Given the description of an element on the screen output the (x, y) to click on. 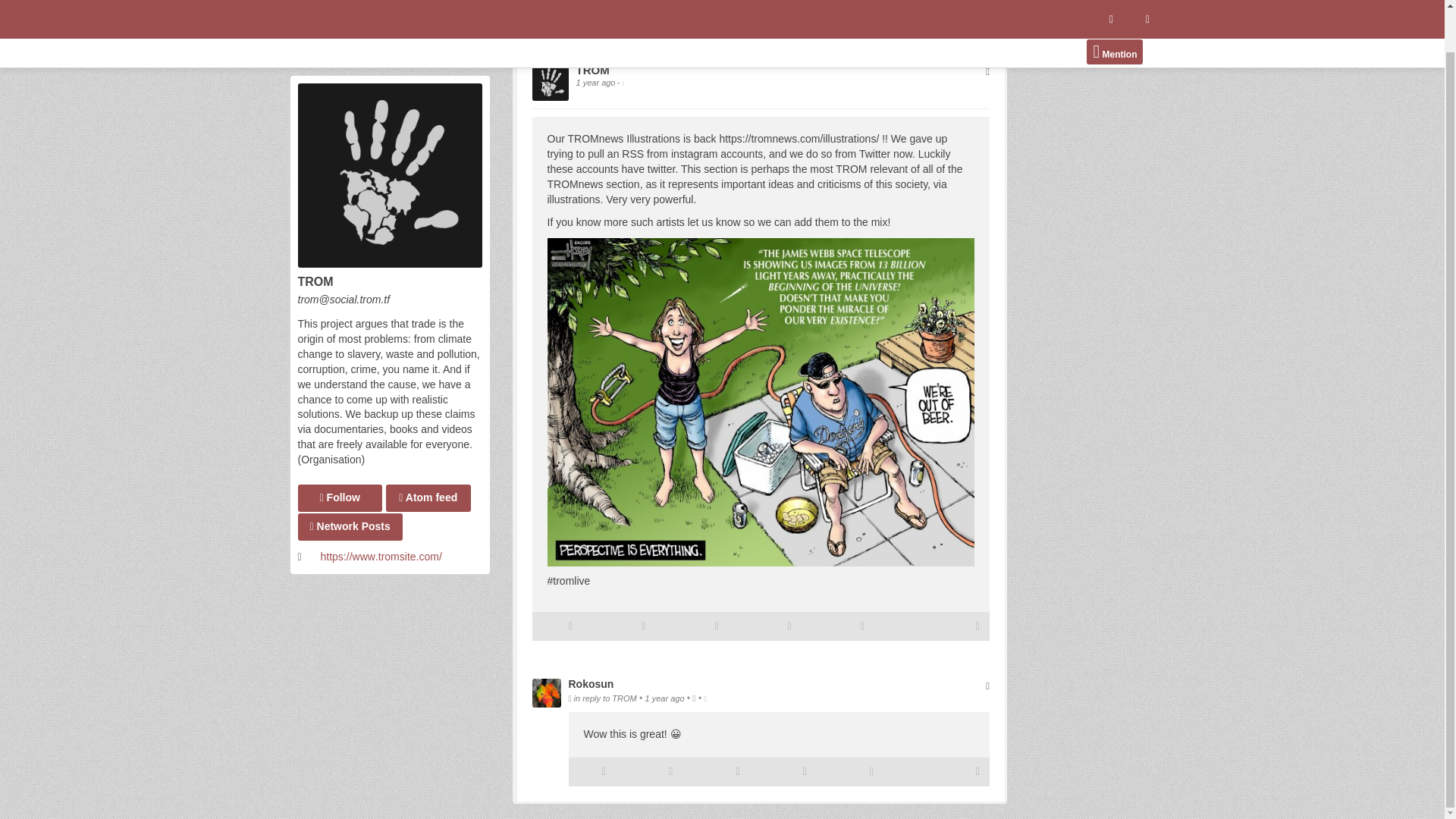
Rokosun (591, 684)
Mention (1114, 10)
tromlive (571, 580)
Atom feed (427, 453)
TROM (593, 70)
1 year ago (596, 82)
Network Posts (349, 482)
Follow (339, 453)
